Given the description of an element on the screen output the (x, y) to click on. 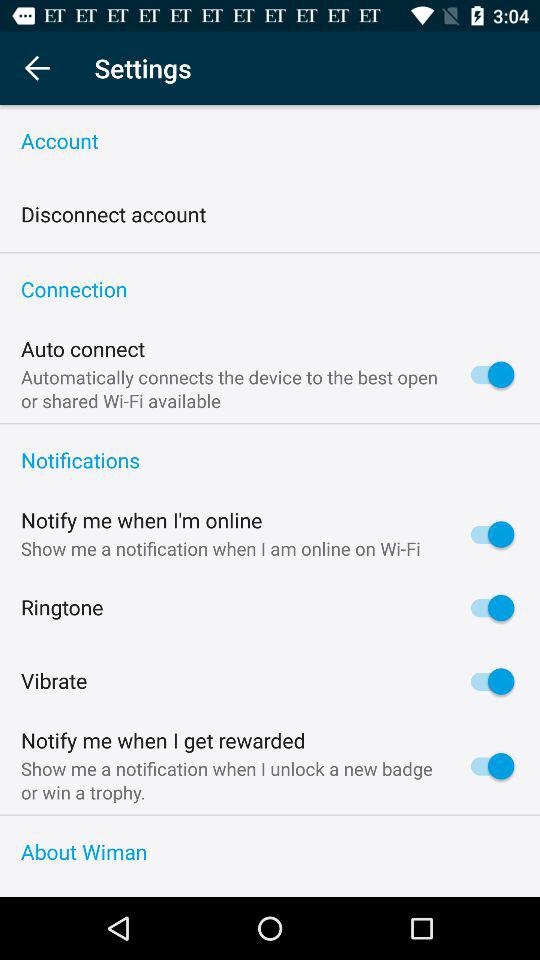
press the icon below automatically connects the icon (270, 423)
